Given the description of an element on the screen output the (x, y) to click on. 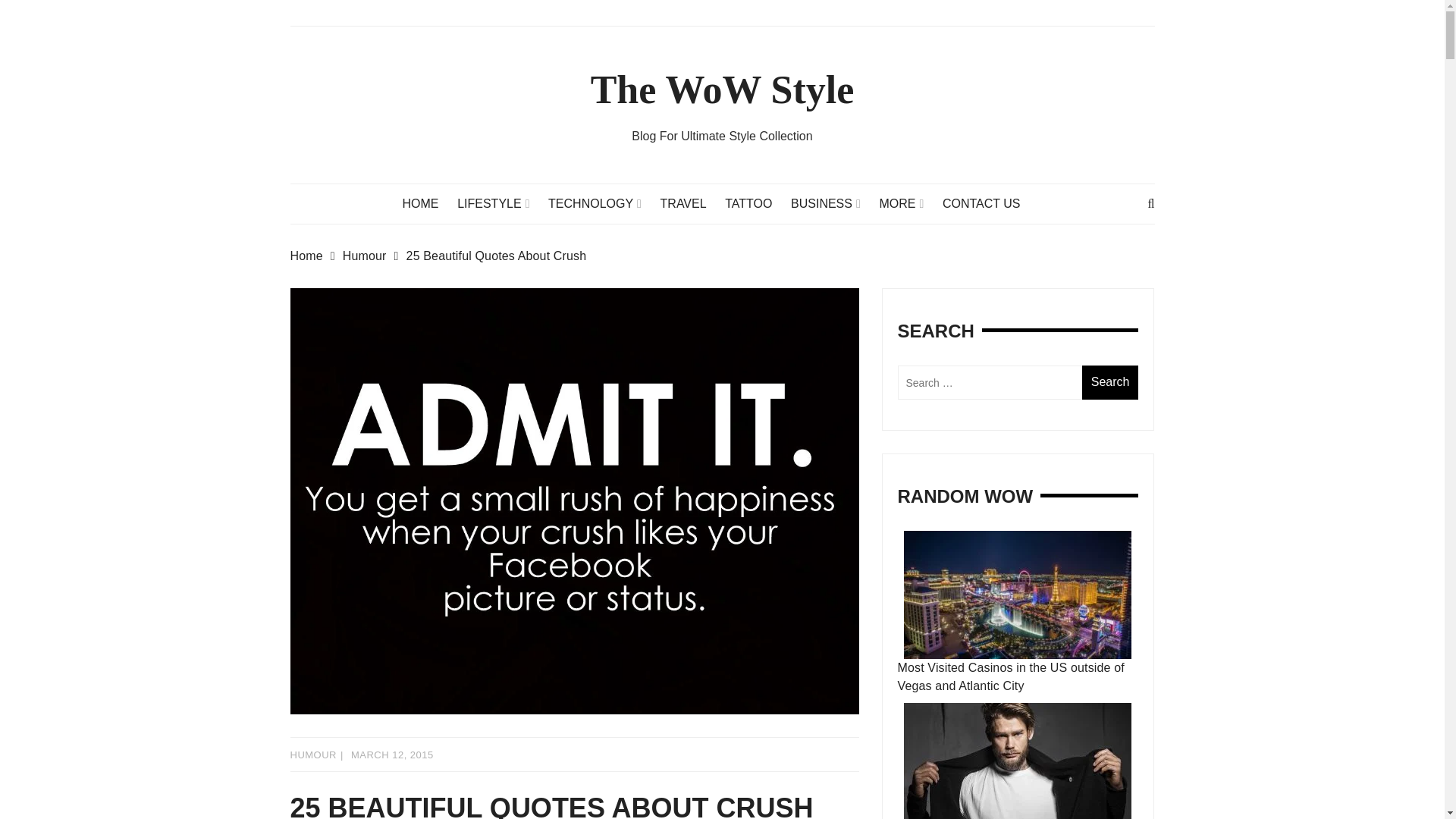
LIFESTYLE (500, 203)
Search (1109, 382)
The WoW Style (722, 89)
Search (1109, 382)
HOME (428, 203)
MORE (909, 203)
TECHNOLOGY (602, 203)
TRAVEL (691, 203)
TATTOO (756, 203)
BUSINESS (833, 203)
